Given the description of an element on the screen output the (x, y) to click on. 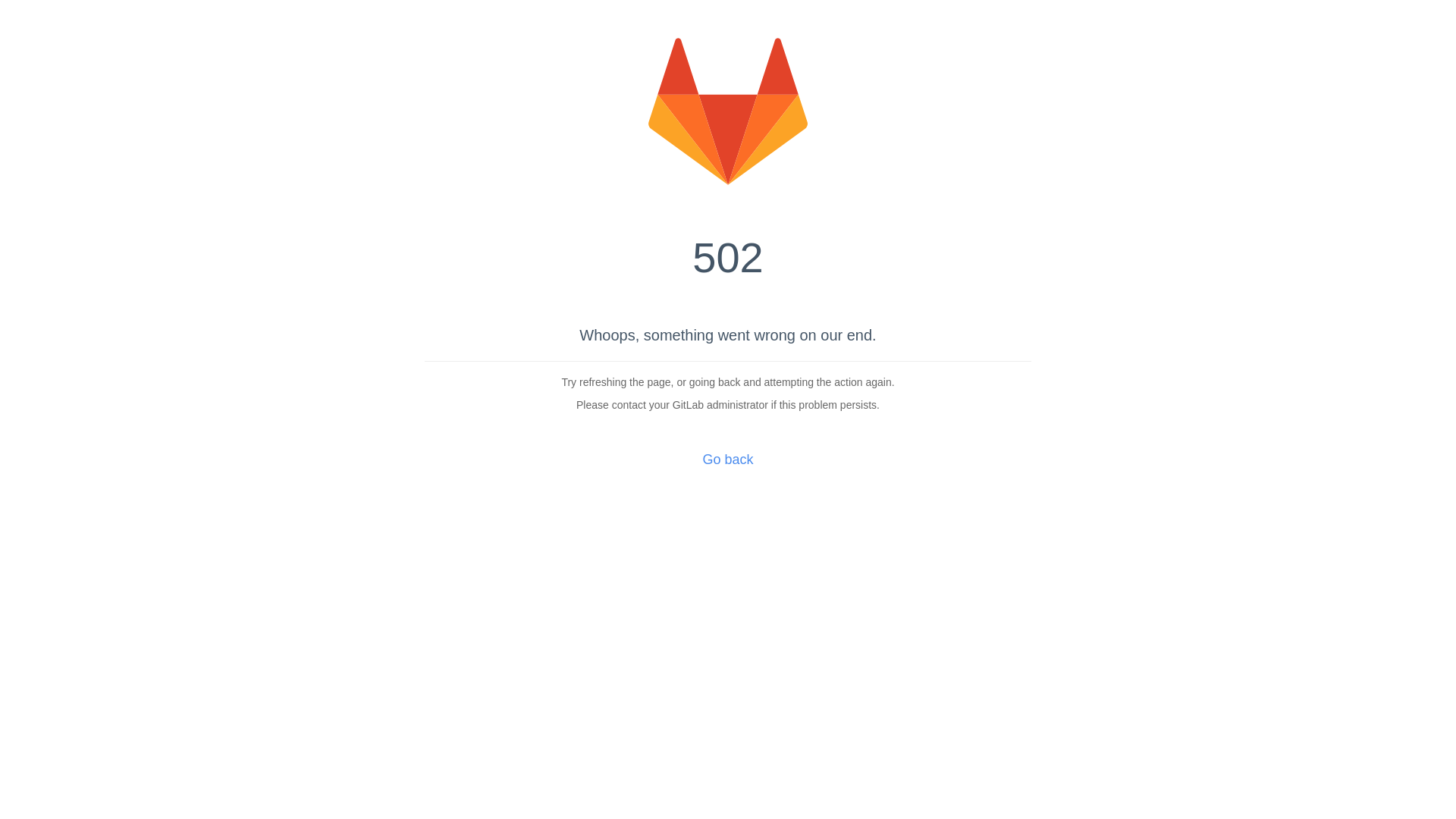
Go back Element type: text (727, 459)
